Given the description of an element on the screen output the (x, y) to click on. 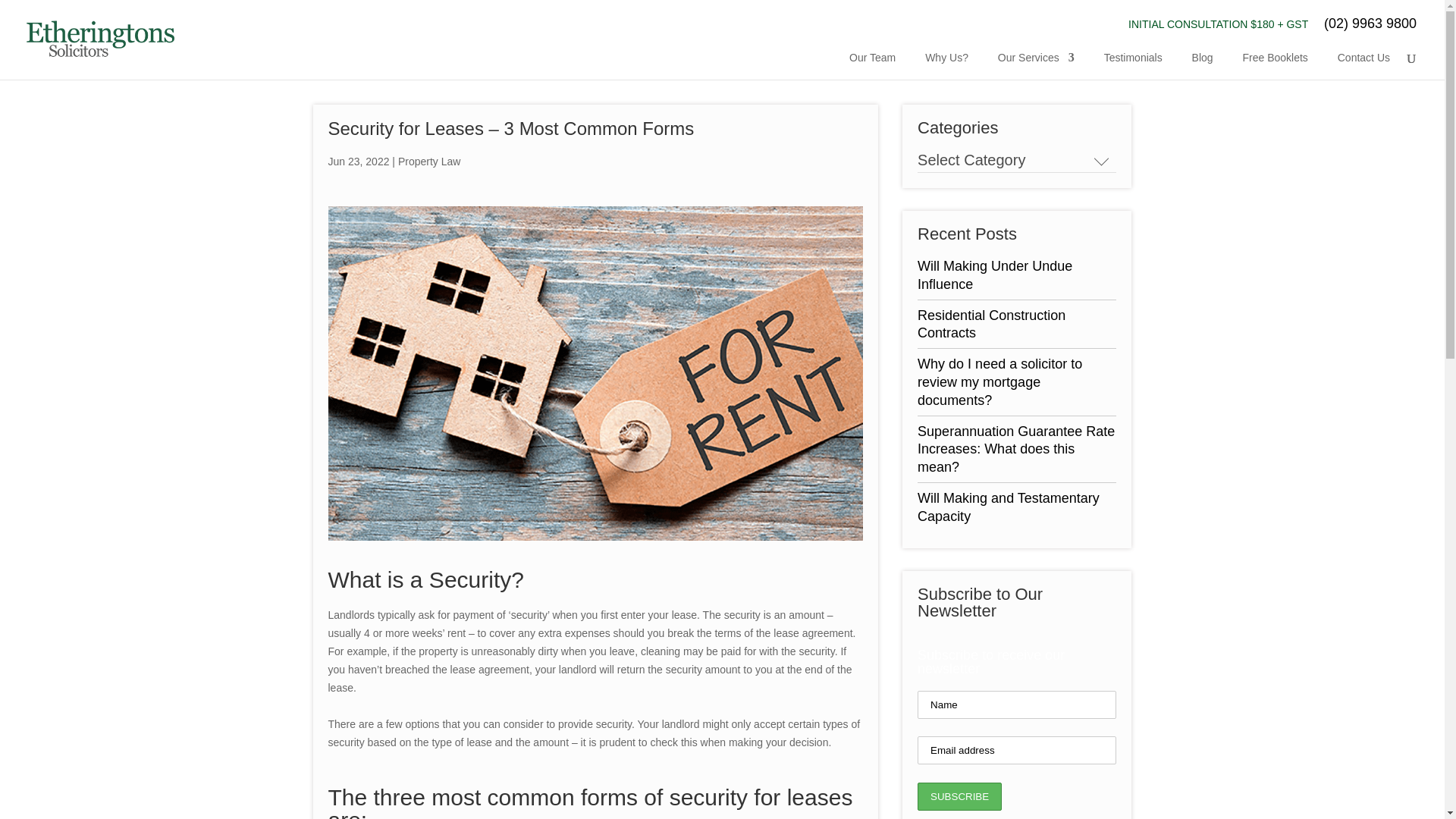
Property Law (428, 161)
Why do I need a solicitor to review my mortgage documents? (999, 381)
Why Us? (946, 62)
Contact Us (1364, 62)
Our Services (1035, 62)
Blog (1202, 62)
Free Booklets (1274, 62)
Testimonials (1132, 62)
SUBSCRIBE  (959, 796)
Our Team (871, 62)
